Given the description of an element on the screen output the (x, y) to click on. 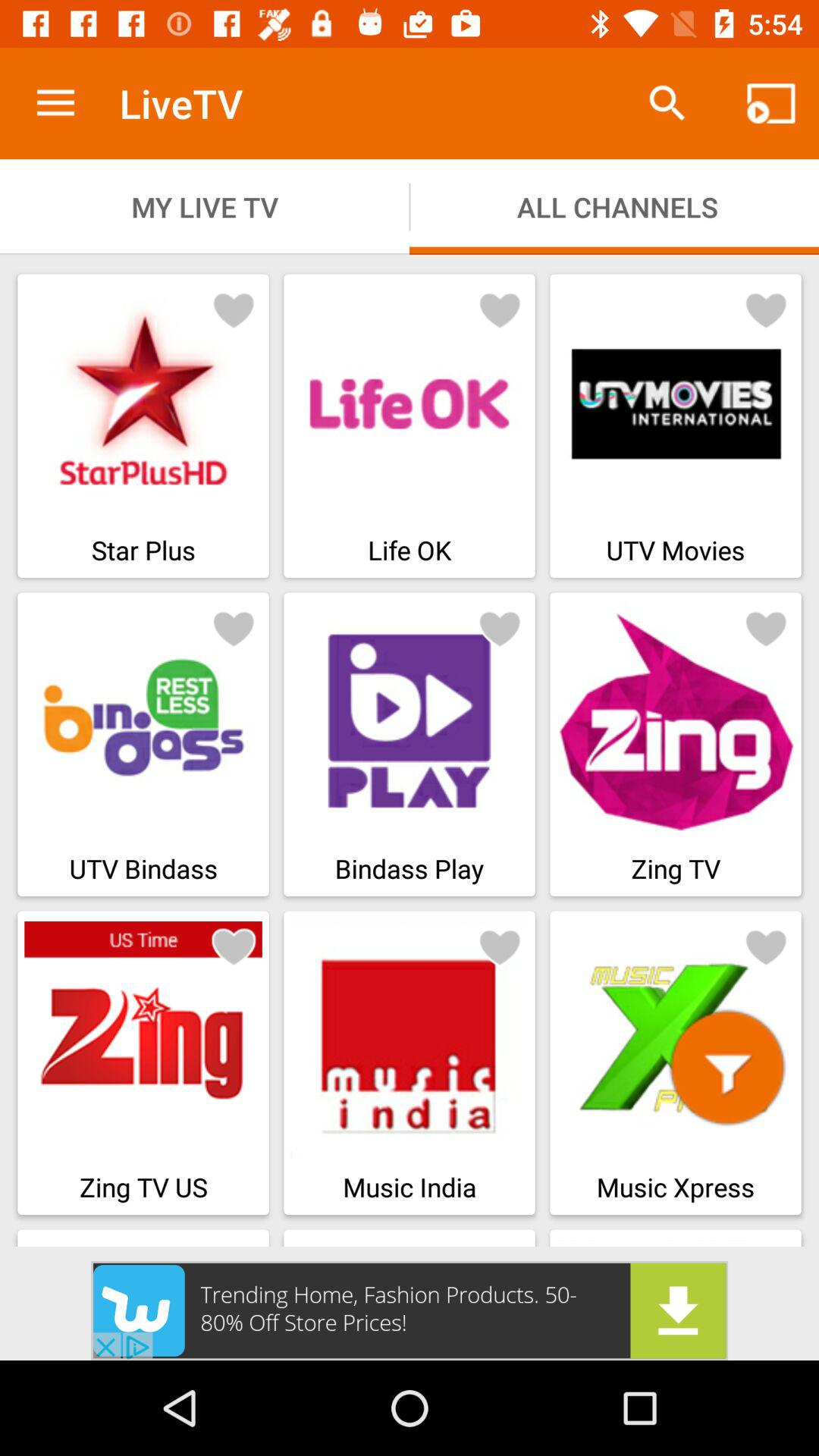
click on the icon which is at second row first column (233, 627)
click on filter symbol which is at the bottom right corner (727, 1066)
go to music india (409, 1063)
click on the life ok image text (409, 425)
